Given the description of an element on the screen output the (x, y) to click on. 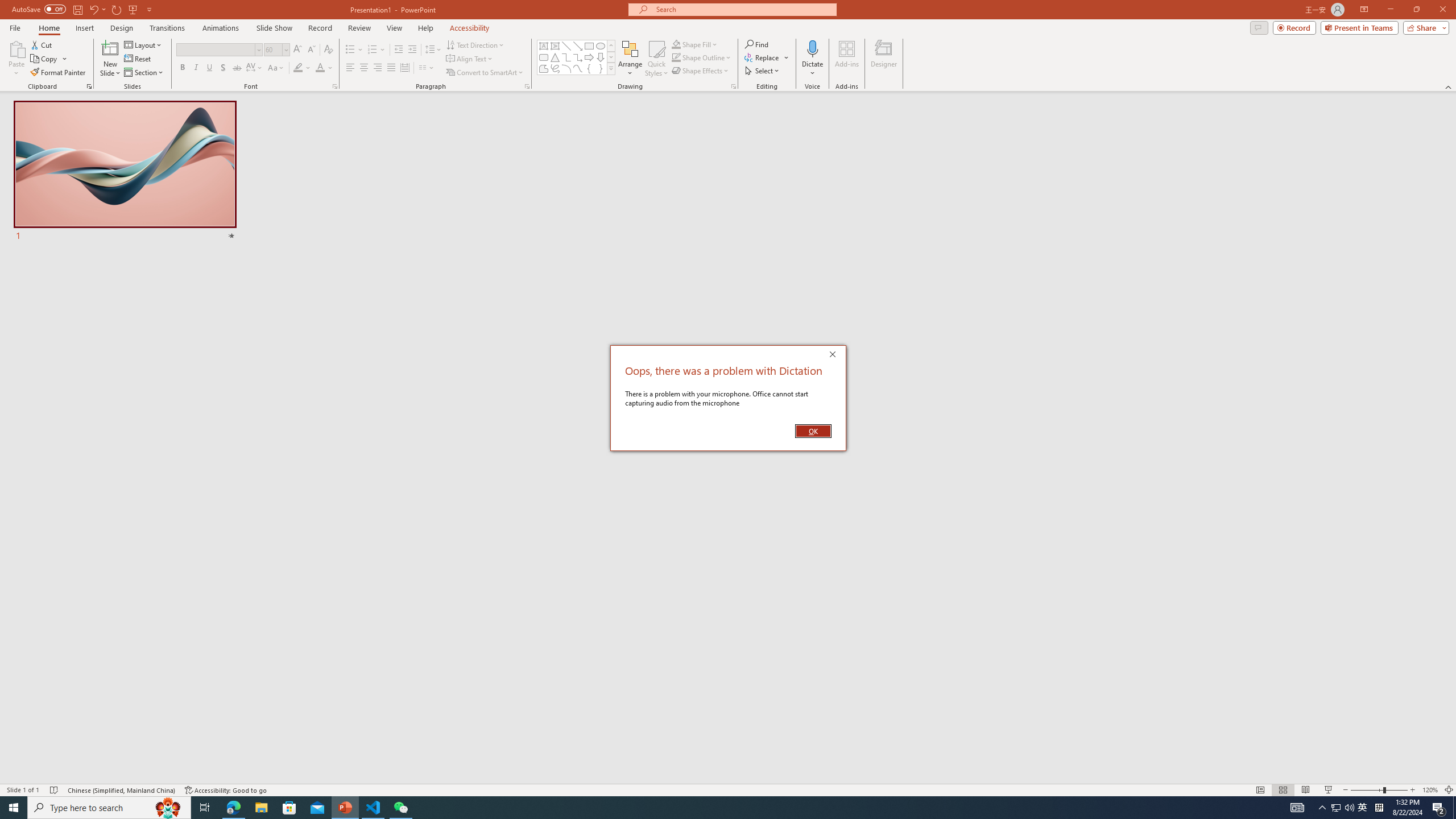
Running applications (707, 807)
